Given the description of an element on the screen output the (x, y) to click on. 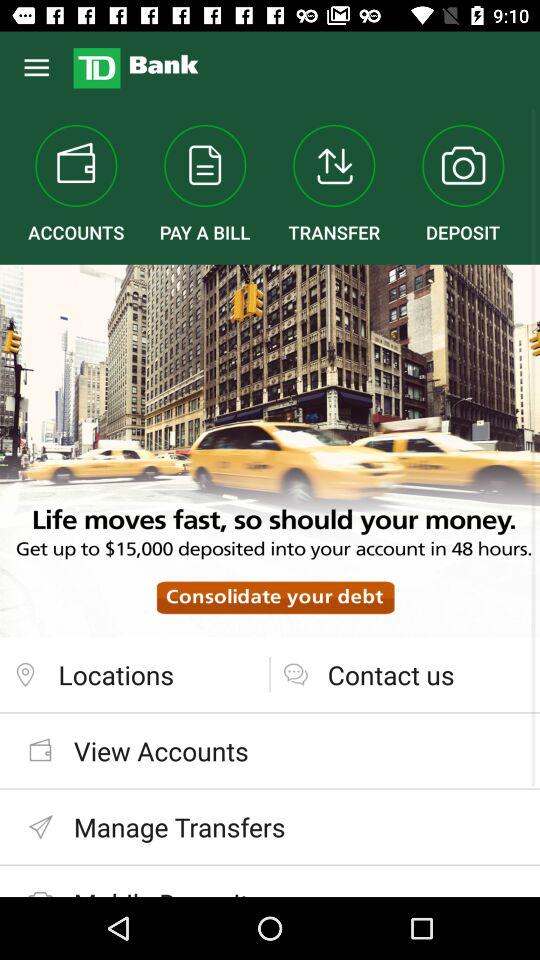
launch the item above manage transfers item (270, 750)
